Given the description of an element on the screen output the (x, y) to click on. 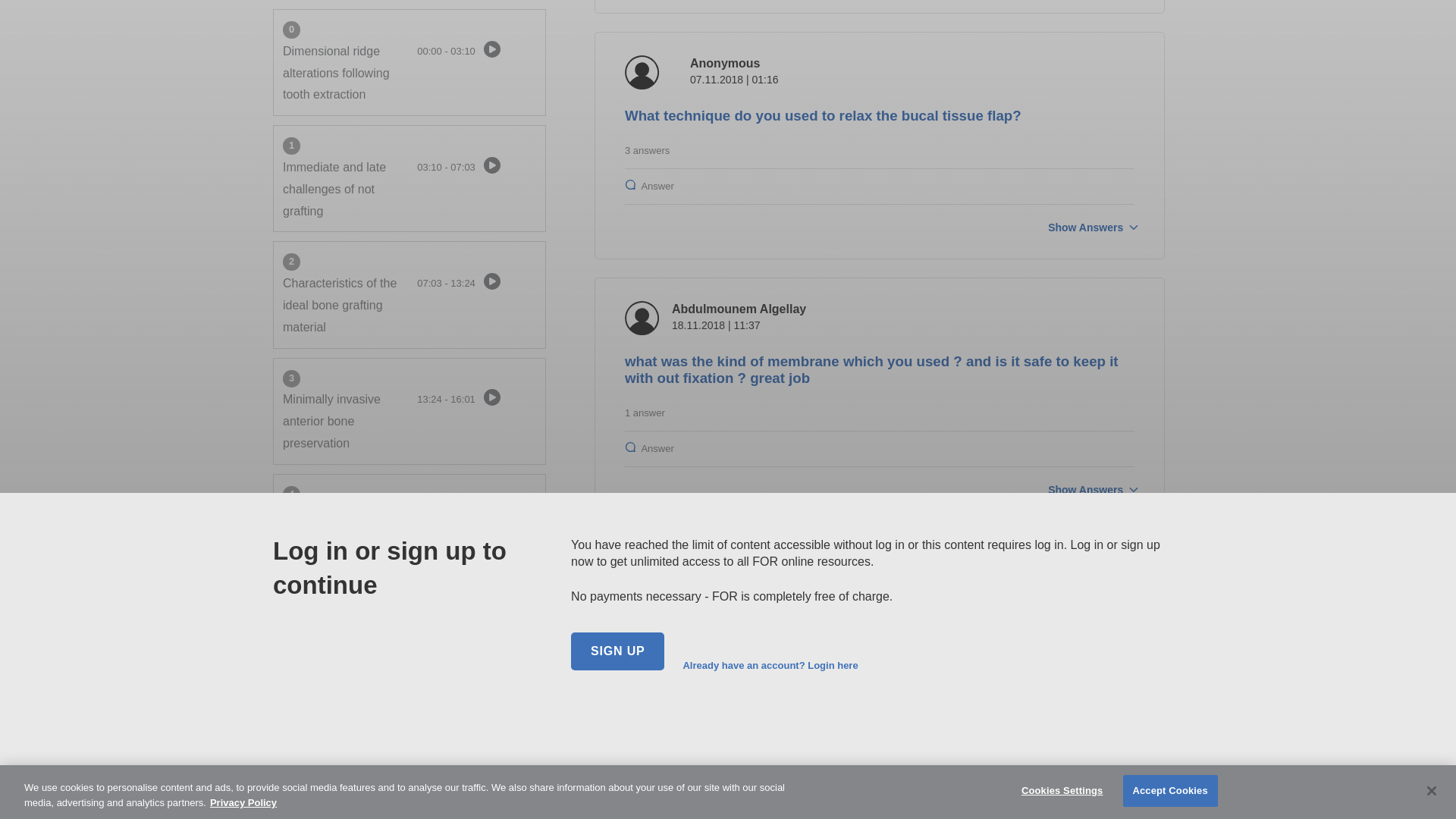
icon-account (641, 71)
icon-account (641, 317)
icon-account (641, 580)
